Given the description of an element on the screen output the (x, y) to click on. 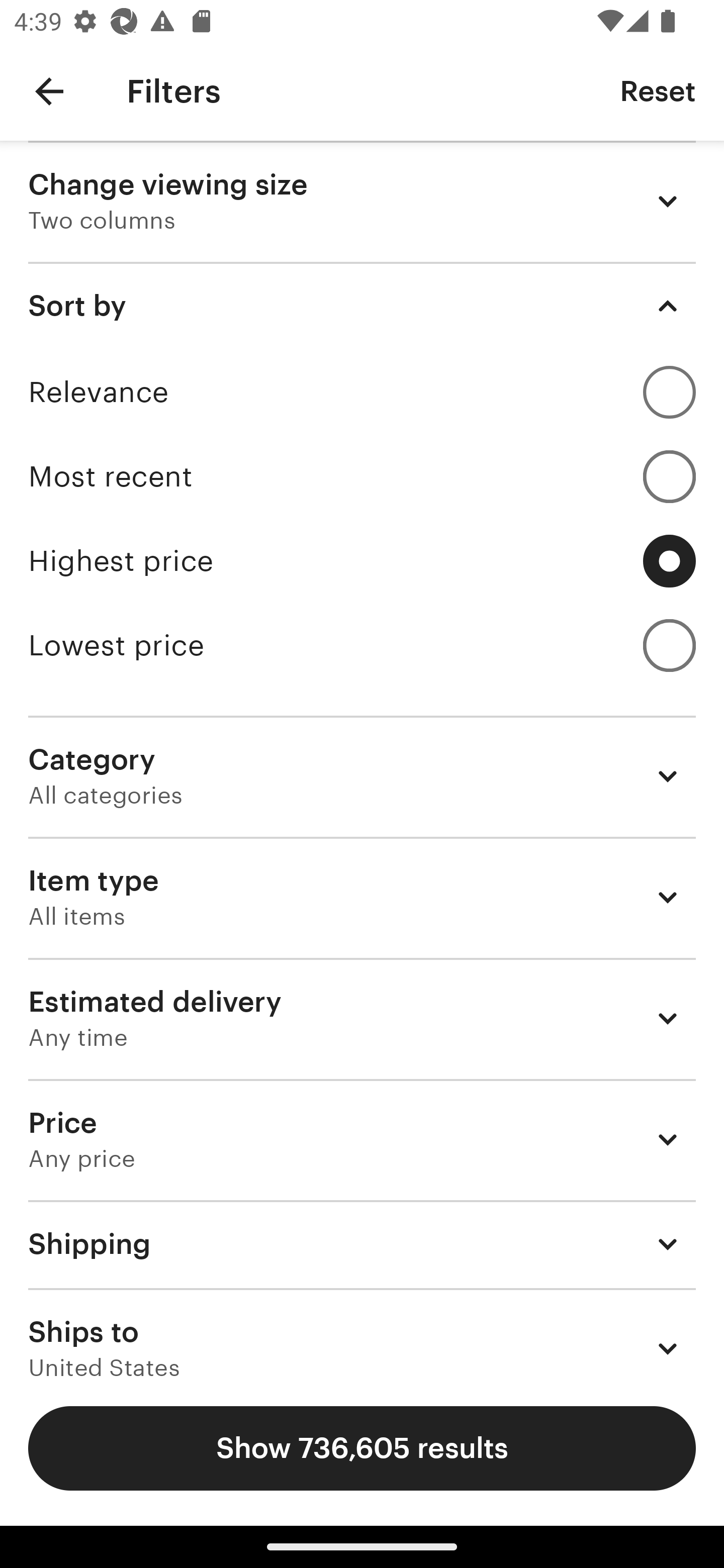
Navigate up (49, 91)
Reset (657, 90)
Change viewing size Two columns (362, 201)
Sort by (362, 305)
Relevance (362, 391)
Most recent (362, 476)
Highest price (362, 561)
Lowest price (362, 644)
Category All categories (362, 776)
Item type All items (362, 897)
Estimated delivery Any time (362, 1018)
Price Any price (362, 1138)
Shipping (362, 1243)
Ships to United States (362, 1332)
Show 736,605 results Show 736,604 results (361, 1448)
